Given the description of an element on the screen output the (x, y) to click on. 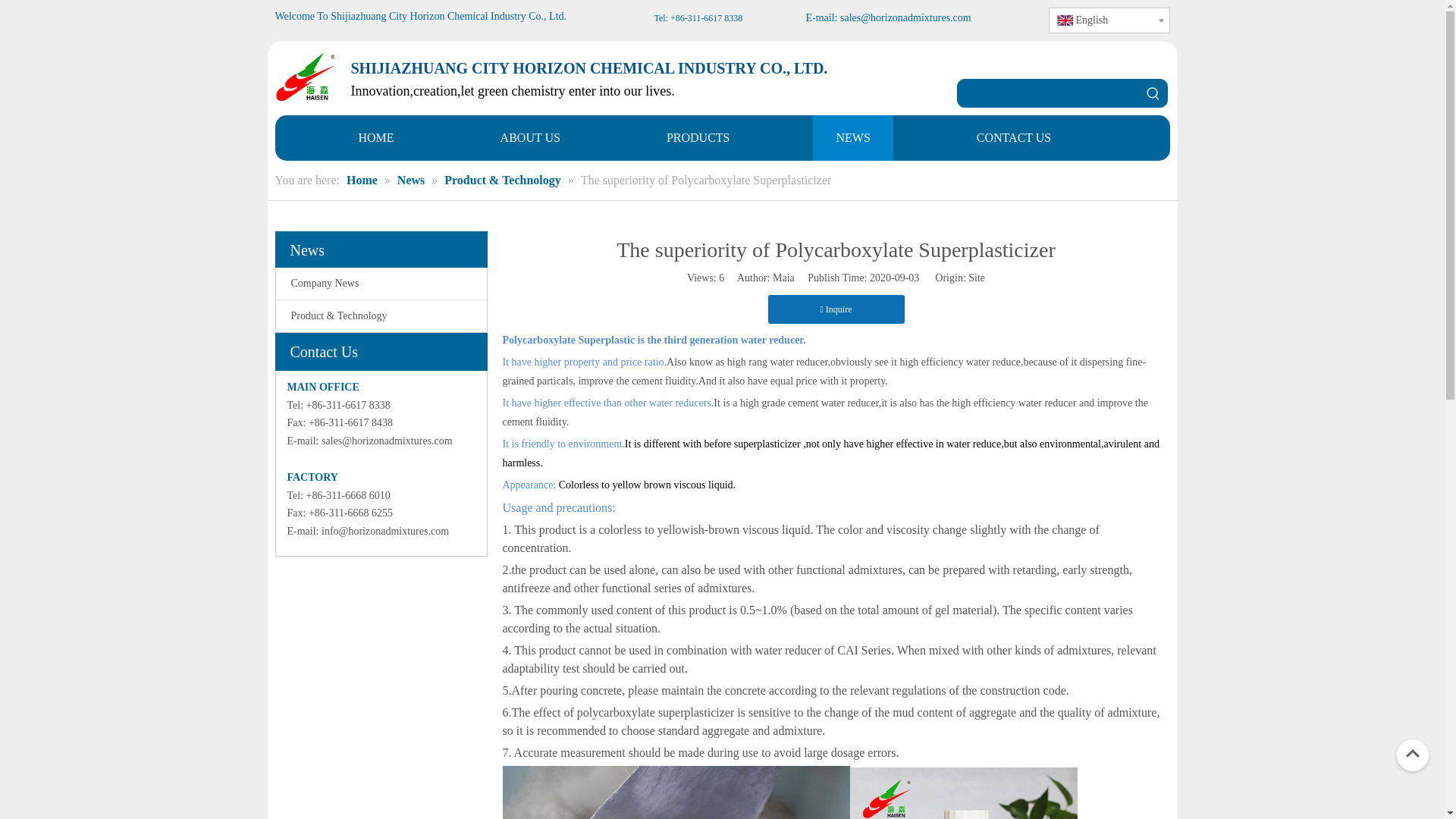
Cement (675, 792)
PRODUCTS (697, 137)
Company News (381, 283)
HOME (375, 137)
ABOUT US (530, 137)
HAISEN (304, 76)
